Given the description of an element on the screen output the (x, y) to click on. 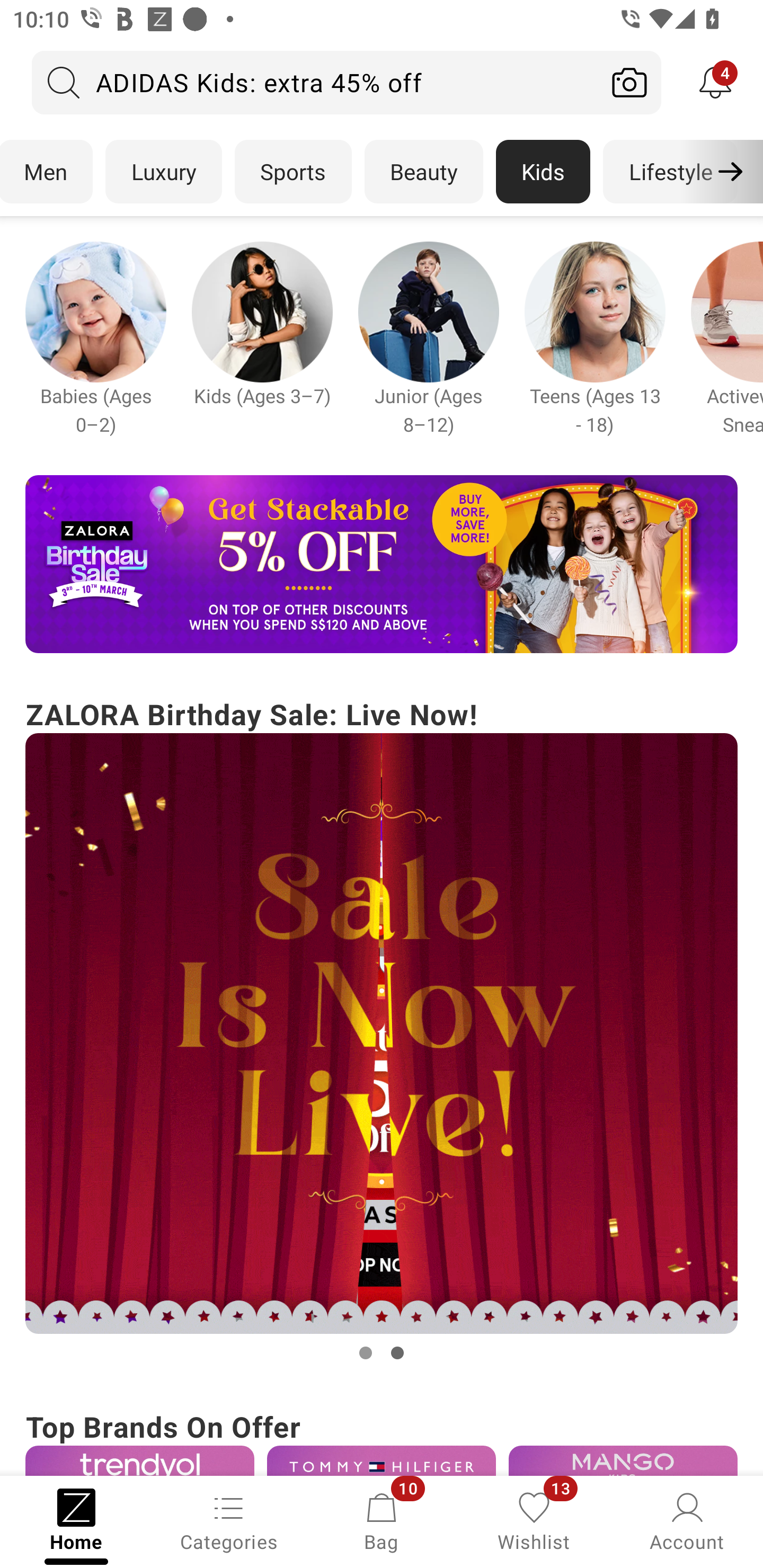
ADIDAS Kids: extra 45% off (314, 82)
Men (46, 171)
Luxury (163, 171)
Sports (293, 171)
Beauty (423, 171)
Kids (542, 171)
Lifestyle (669, 171)
Campaign banner (95, 311)
Campaign banner (261, 311)
Campaign banner (428, 311)
Campaign banner (594, 311)
Campaign banner (381, 564)
ZALORA Birthday Sale: Live Now! Campaign banner (381, 1028)
Campaign banner (381, 1033)
Campaign banner (139, 1460)
Campaign banner (381, 1460)
Campaign banner (622, 1460)
Categories (228, 1519)
Bag, 10 new notifications Bag (381, 1519)
Wishlist, 13 new notifications Wishlist (533, 1519)
Account (686, 1519)
